Given the description of an element on the screen output the (x, y) to click on. 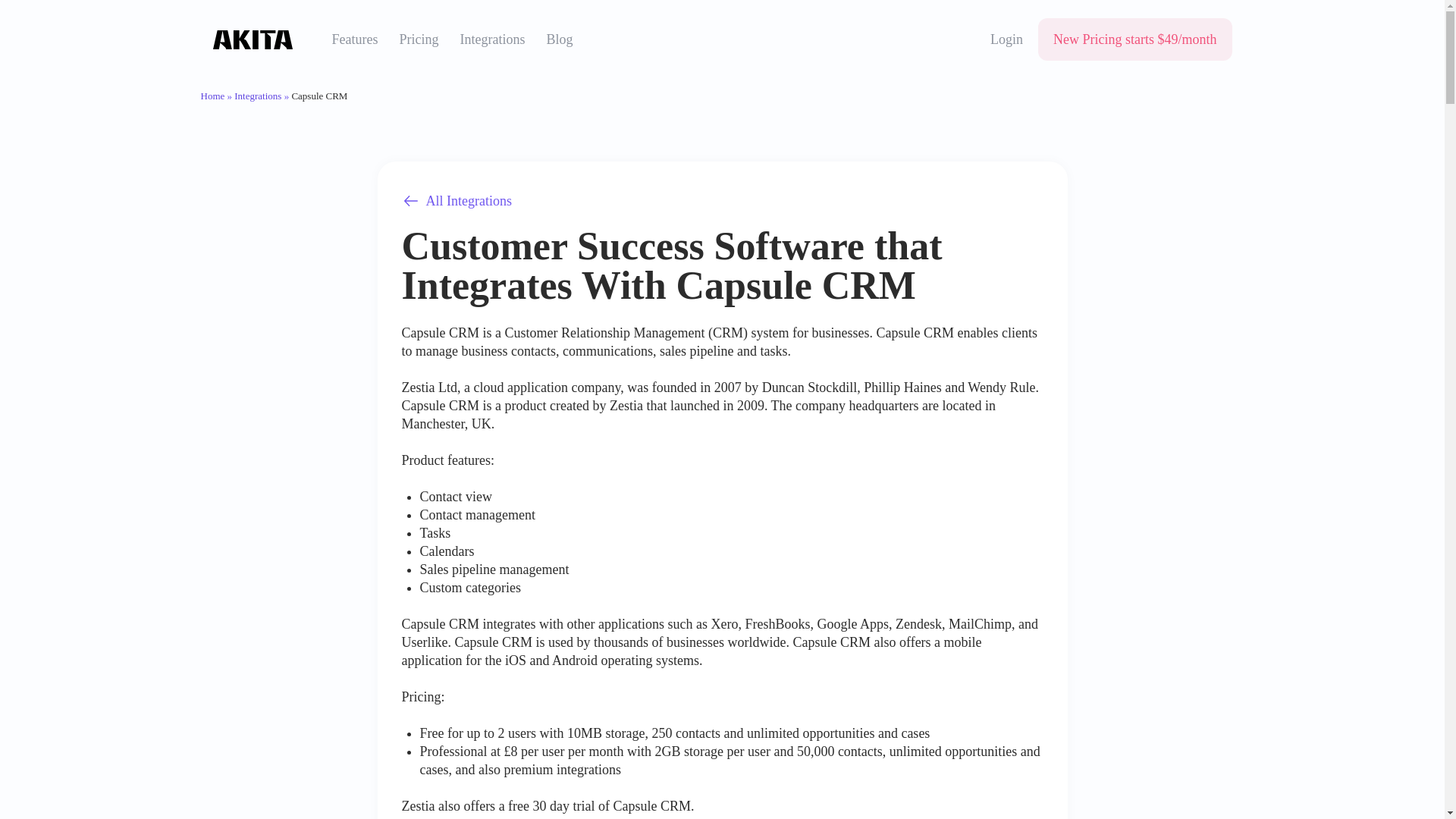
Home (212, 95)
Features (355, 39)
Login (1006, 39)
All Integrations (456, 200)
Pricing (418, 39)
Integrations (257, 95)
Blog (559, 39)
Integrations (491, 39)
